Given the description of an element on the screen output the (x, y) to click on. 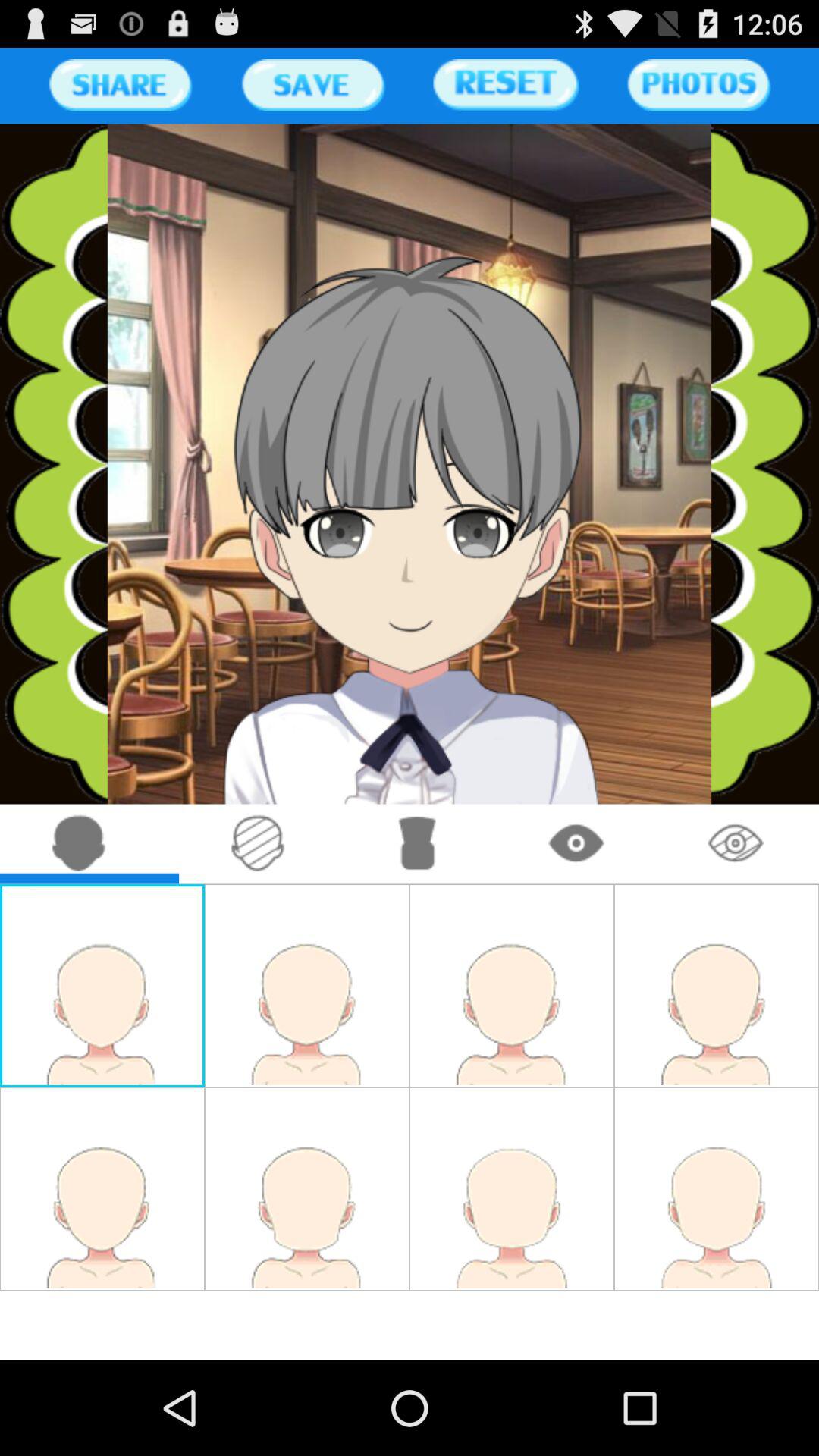
select your face icon (79, 843)
